Given the description of an element on the screen output the (x, y) to click on. 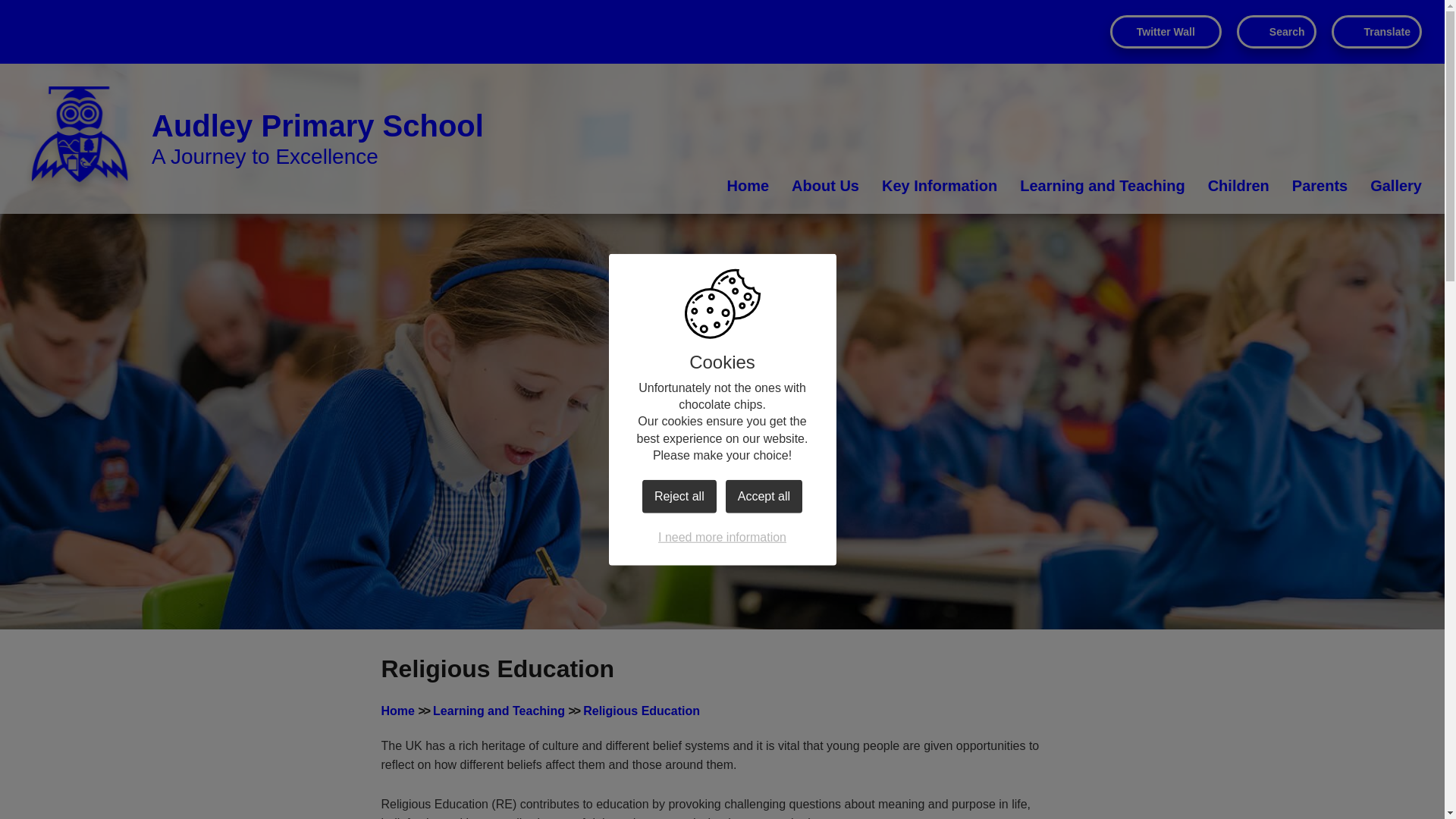
Learning and Teaching (1102, 185)
Translate (1377, 31)
Twitter Wall (1165, 31)
Home Page (79, 138)
About Us (825, 185)
Key Information (939, 185)
Home (748, 185)
Search (1276, 31)
